Given the description of an element on the screen output the (x, y) to click on. 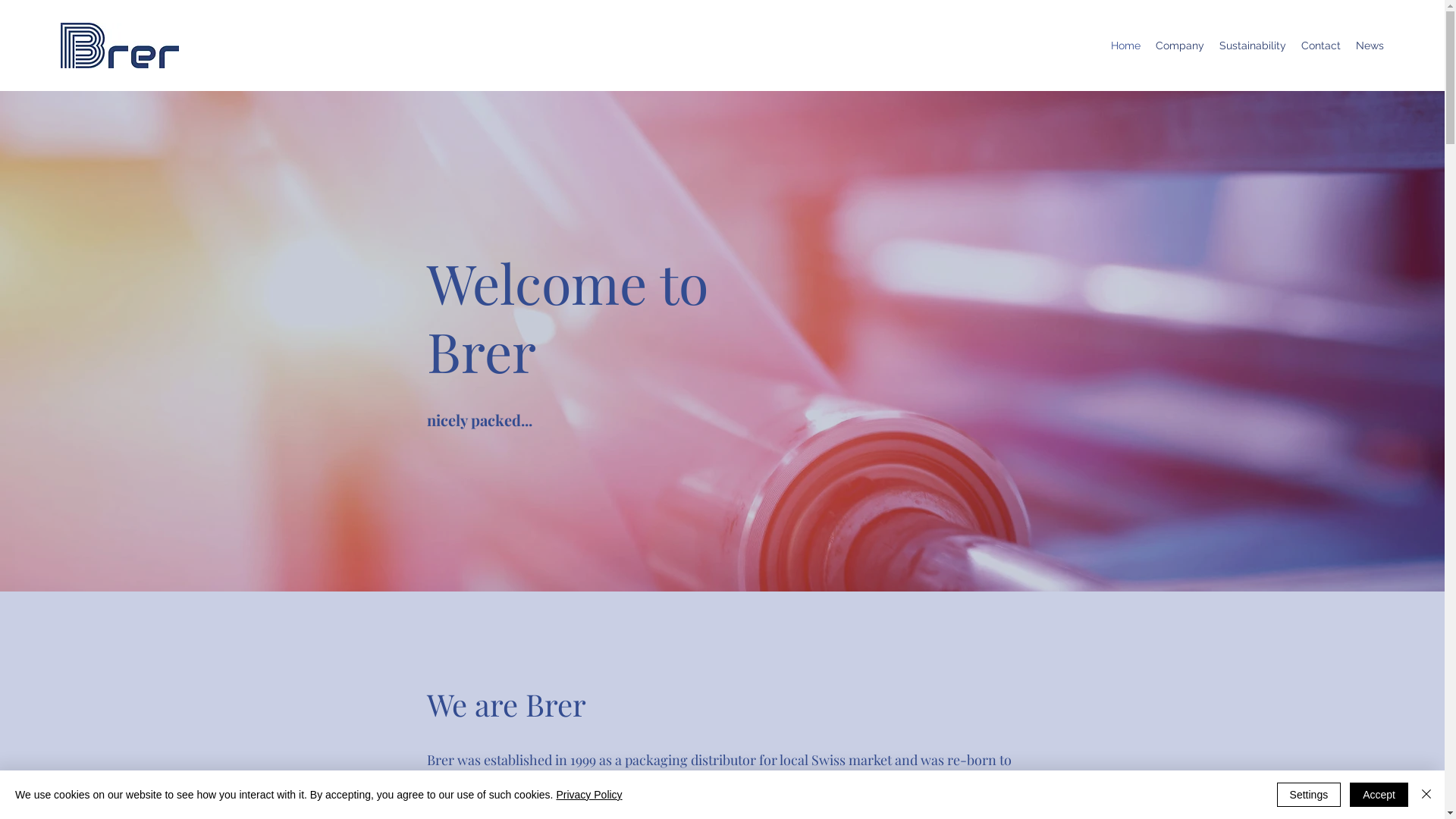
Home Element type: text (1125, 45)
Privacy Policy Element type: text (588, 794)
Settings Element type: text (1309, 794)
News Element type: text (1369, 45)
Accept Element type: text (1378, 794)
Sustainability Element type: text (1252, 45)
Company Element type: text (1179, 45)
Contact Element type: text (1320, 45)
